Given the description of an element on the screen output the (x, y) to click on. 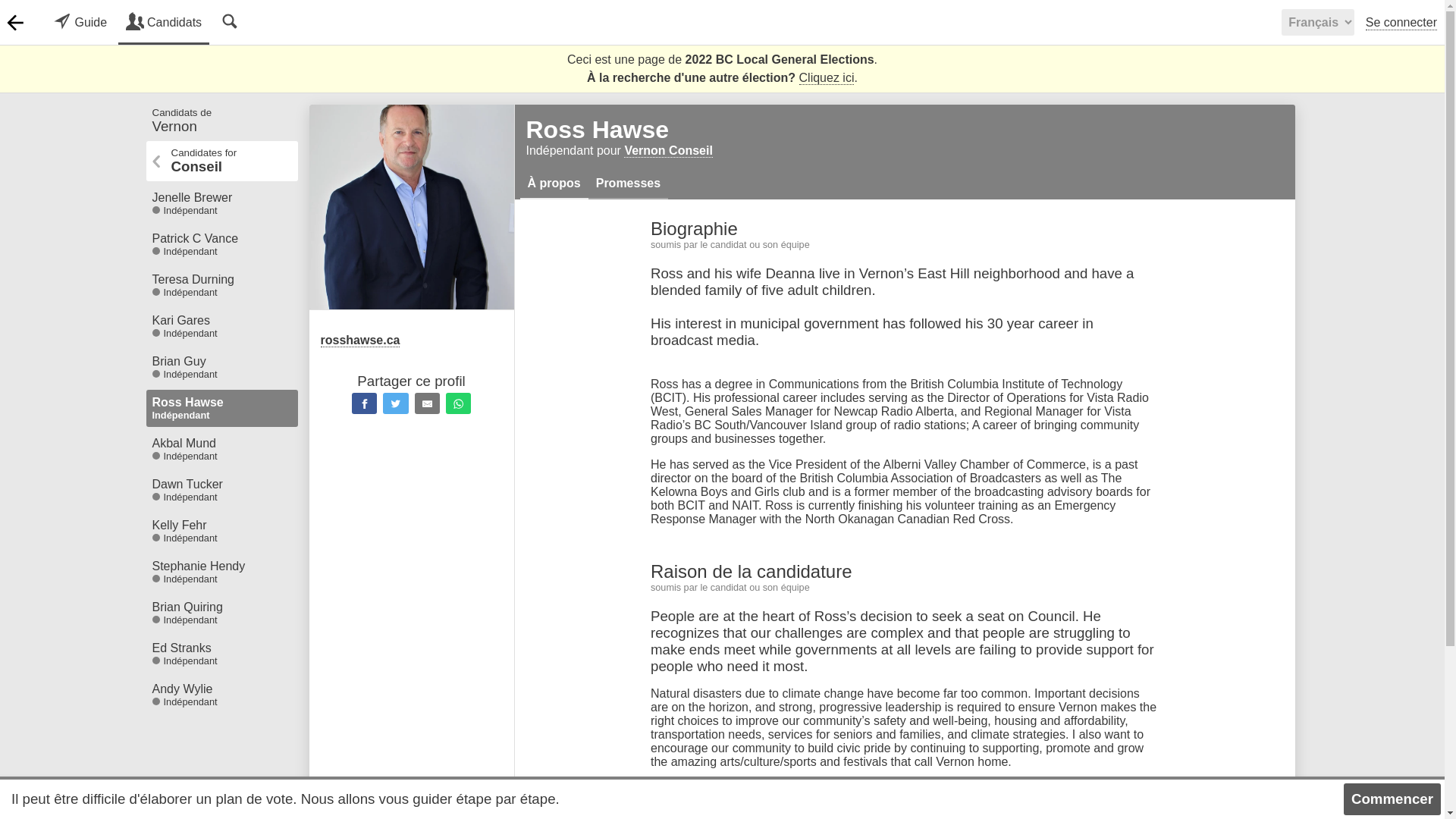
Guide (80, 22)
Candidats (163, 22)
Les candidats, leurs profils et leurs politiques (163, 22)
Accueil VoteMate (15, 22)
rosshawse.ca (395, 340)
Se connecter (1401, 22)
Vernon Conseil (667, 151)
